Given the description of an element on the screen output the (x, y) to click on. 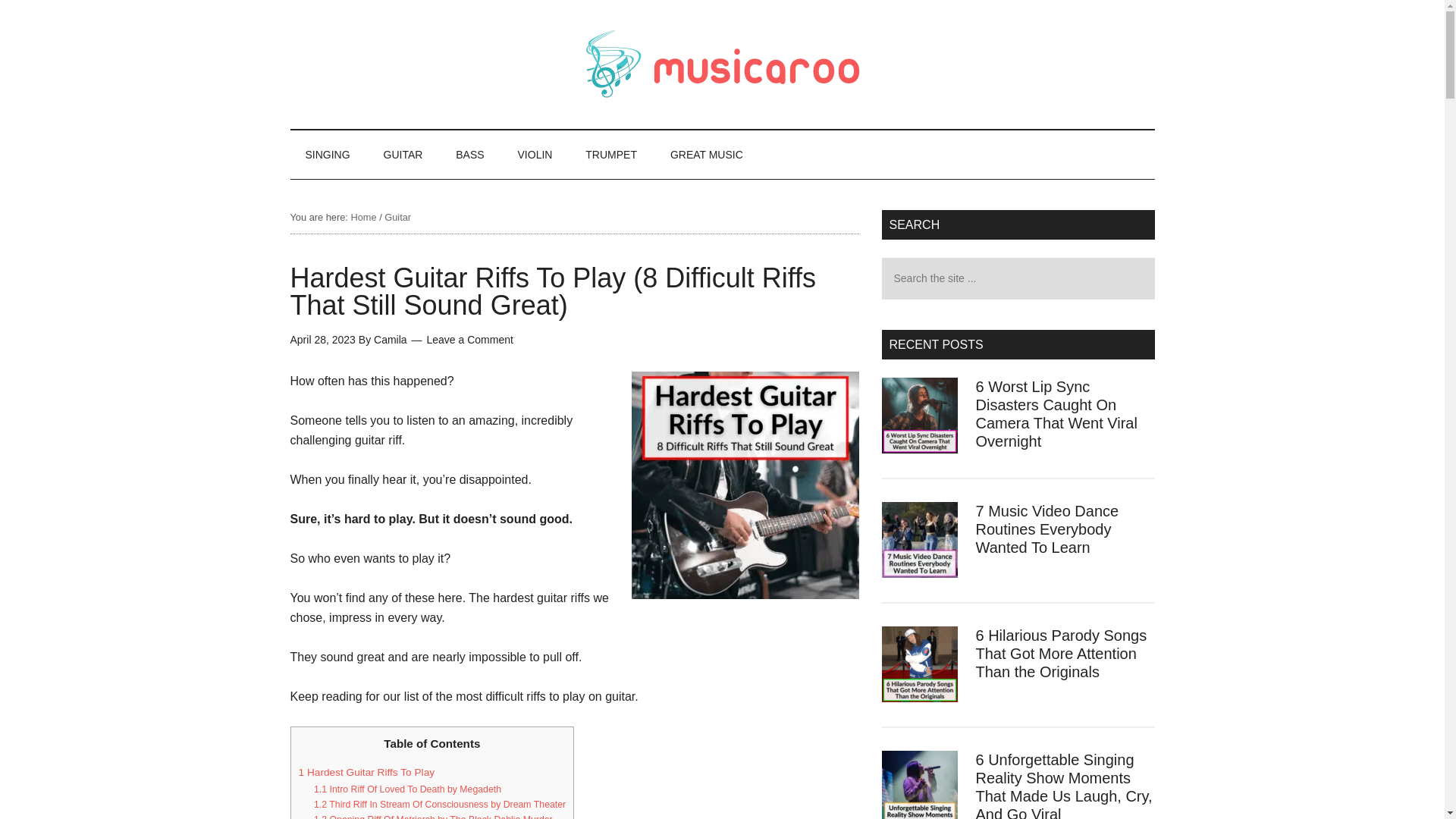
BASS (470, 154)
GREAT MUSIC (706, 154)
SINGING (327, 154)
Hardest Guitar Riffs (744, 484)
VIOLIN (534, 154)
GUITAR (403, 154)
TRUMPET (611, 154)
Musicaroo (721, 64)
